Given the description of an element on the screen output the (x, y) to click on. 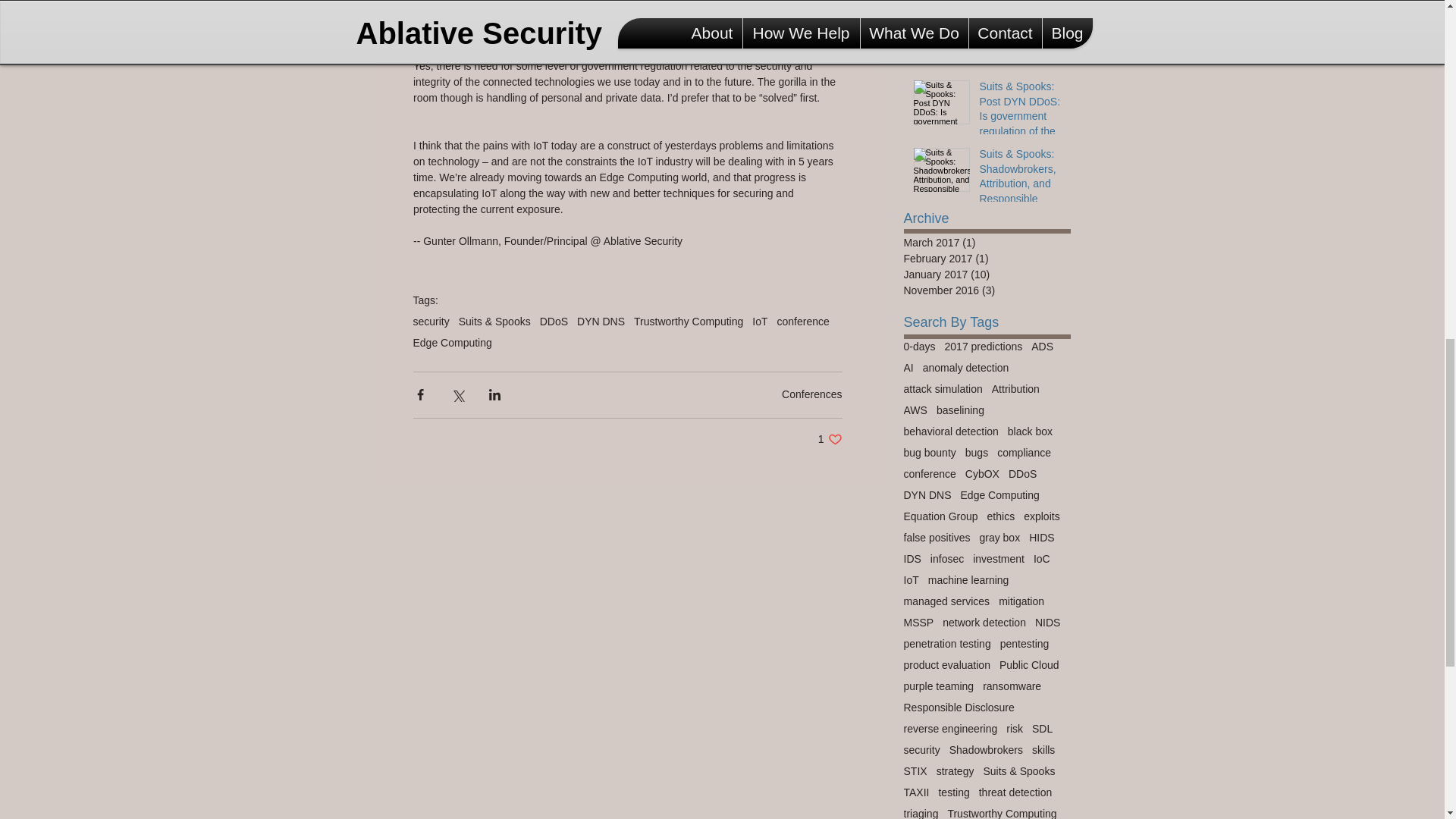
DDoS (553, 321)
IoT (830, 439)
Edge Computing (759, 321)
Trustworthy Computing (452, 342)
security (687, 321)
From Anomaly, to Behavior, and on to Learning Systems (430, 321)
DYN DNS (1020, 52)
Conferences (600, 321)
0-days (811, 394)
conference (920, 345)
